Given the description of an element on the screen output the (x, y) to click on. 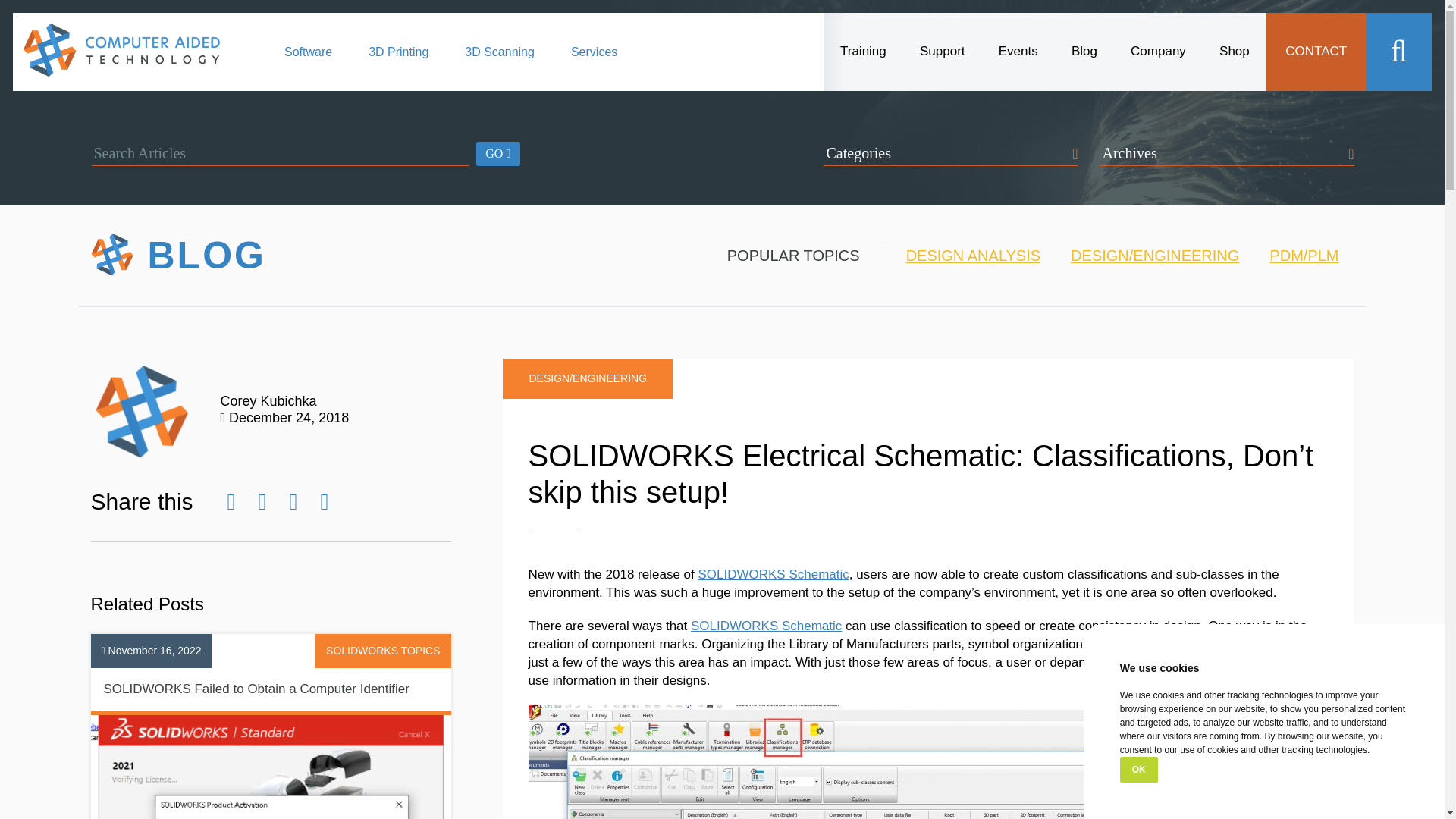
Software (308, 60)
OK (1138, 769)
